Given the description of an element on the screen output the (x, y) to click on. 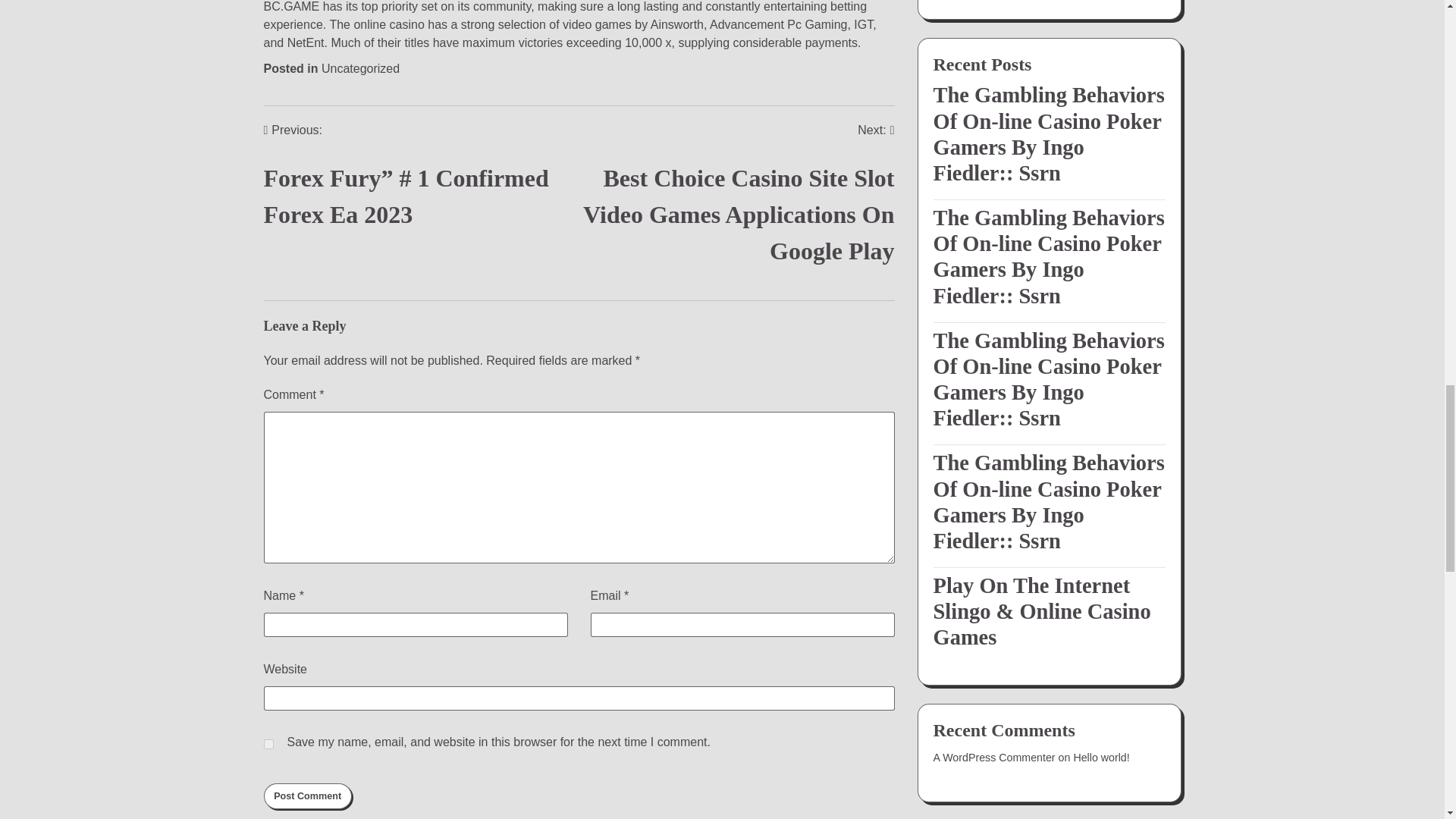
Uncategorized (359, 68)
Post Comment (307, 795)
Post Comment (307, 795)
yes (268, 744)
